Given the description of an element on the screen output the (x, y) to click on. 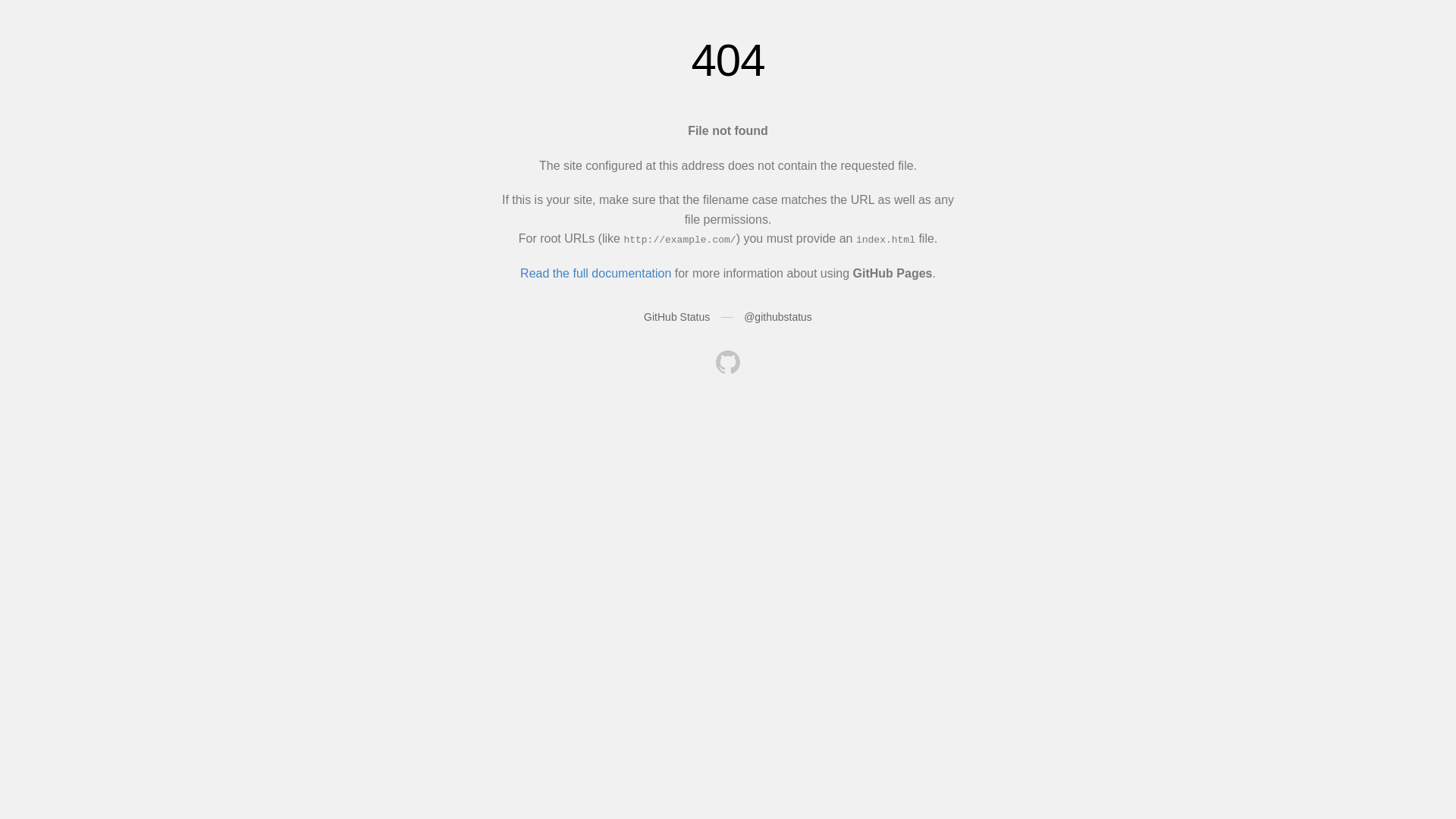
GitHub Status Element type: text (676, 316)
@githubstatus Element type: text (777, 316)
Read the full documentation Element type: text (595, 272)
